Given the description of an element on the screen output the (x, y) to click on. 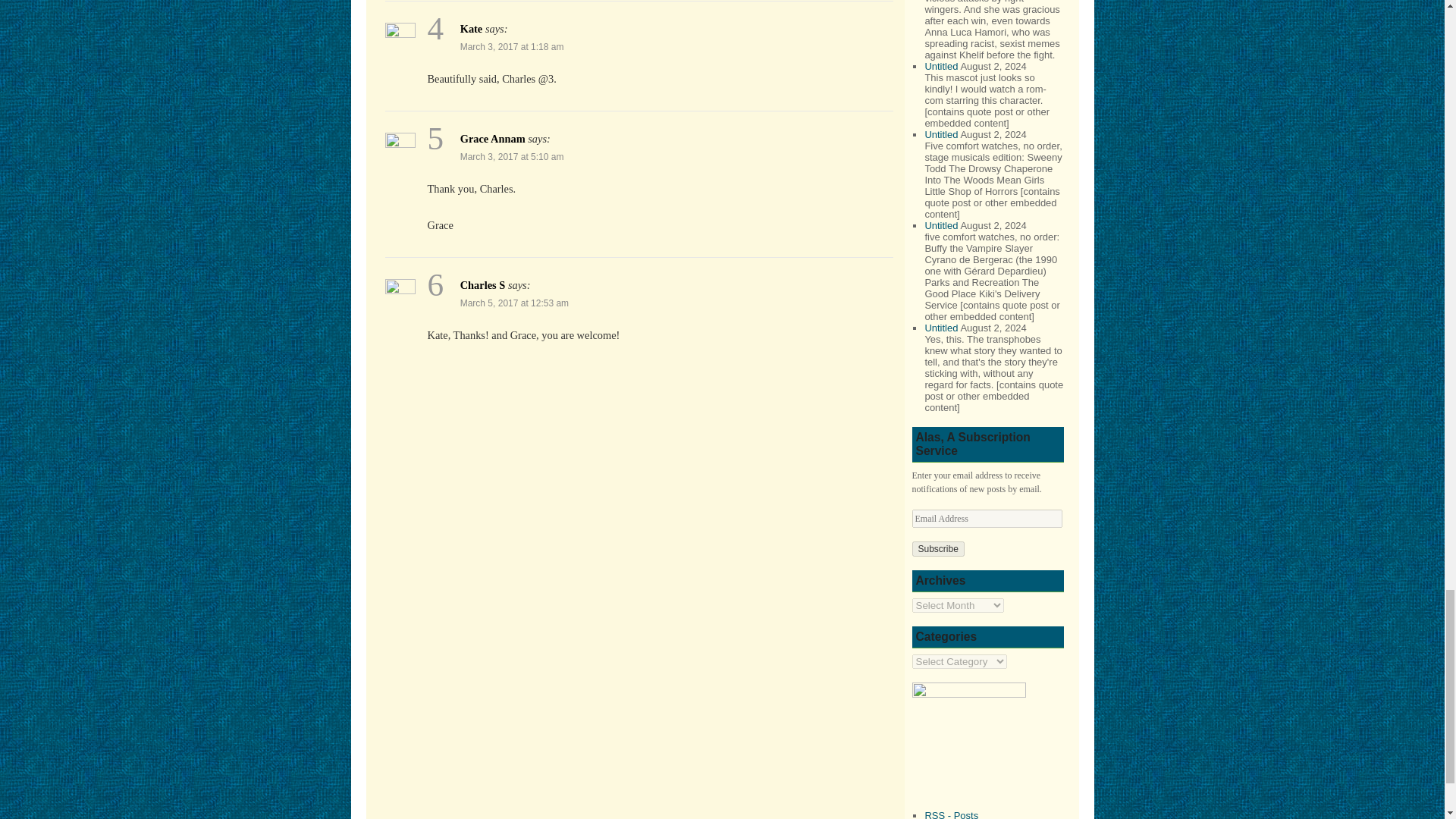
March 5, 2017 at 12:53 am (514, 303)
Subscribe (937, 548)
March 3, 2017 at 5:10 am (512, 156)
March 3, 2017 at 1:18 am (512, 46)
